Given the description of an element on the screen output the (x, y) to click on. 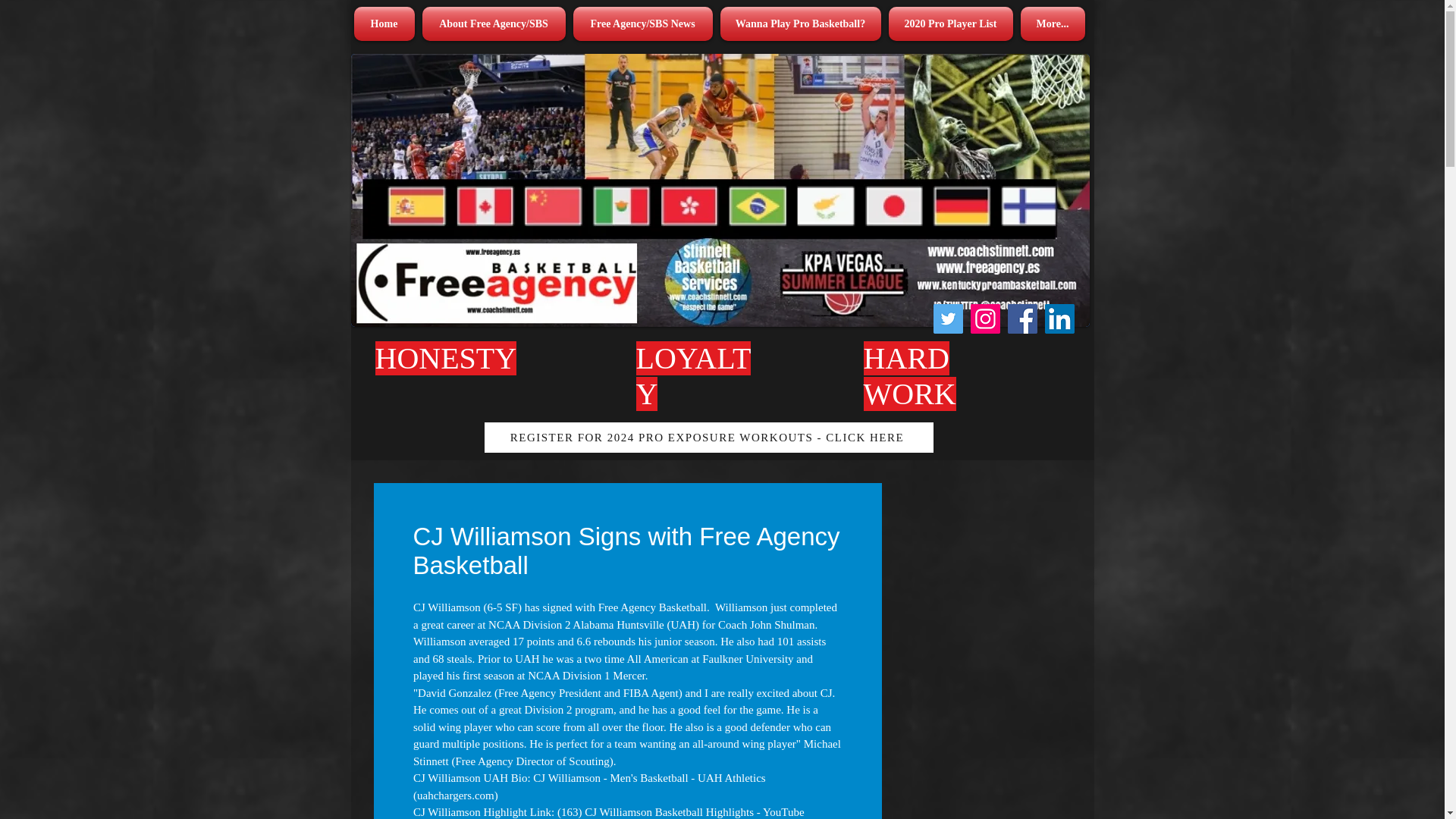
Home (385, 23)
2020 Pro Player List (949, 23)
Wanna Play Pro Basketball? (799, 23)
